Given the description of an element on the screen output the (x, y) to click on. 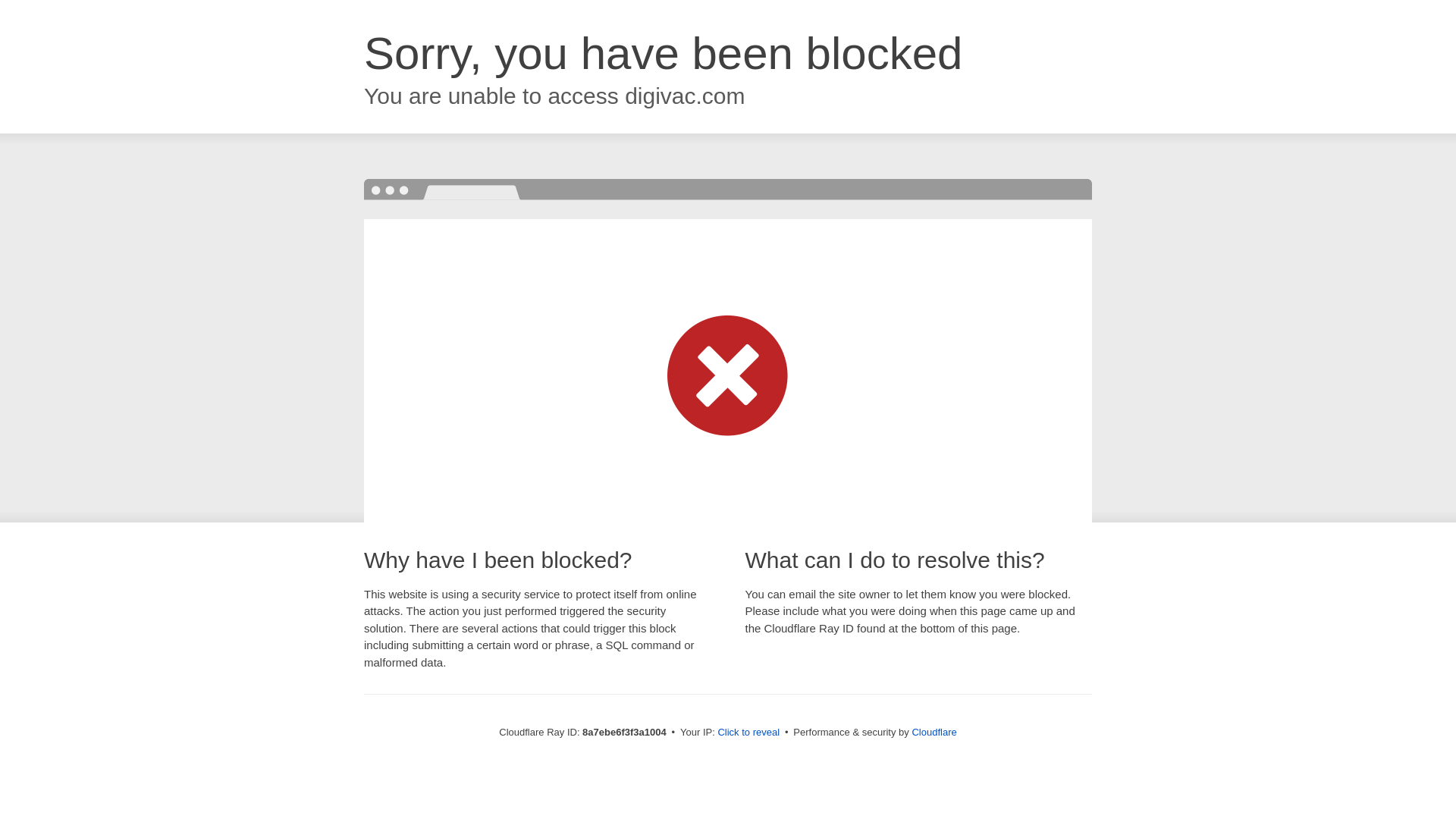
Cloudflare (933, 731)
Click to reveal (747, 732)
